Given the description of an element on the screen output the (x, y) to click on. 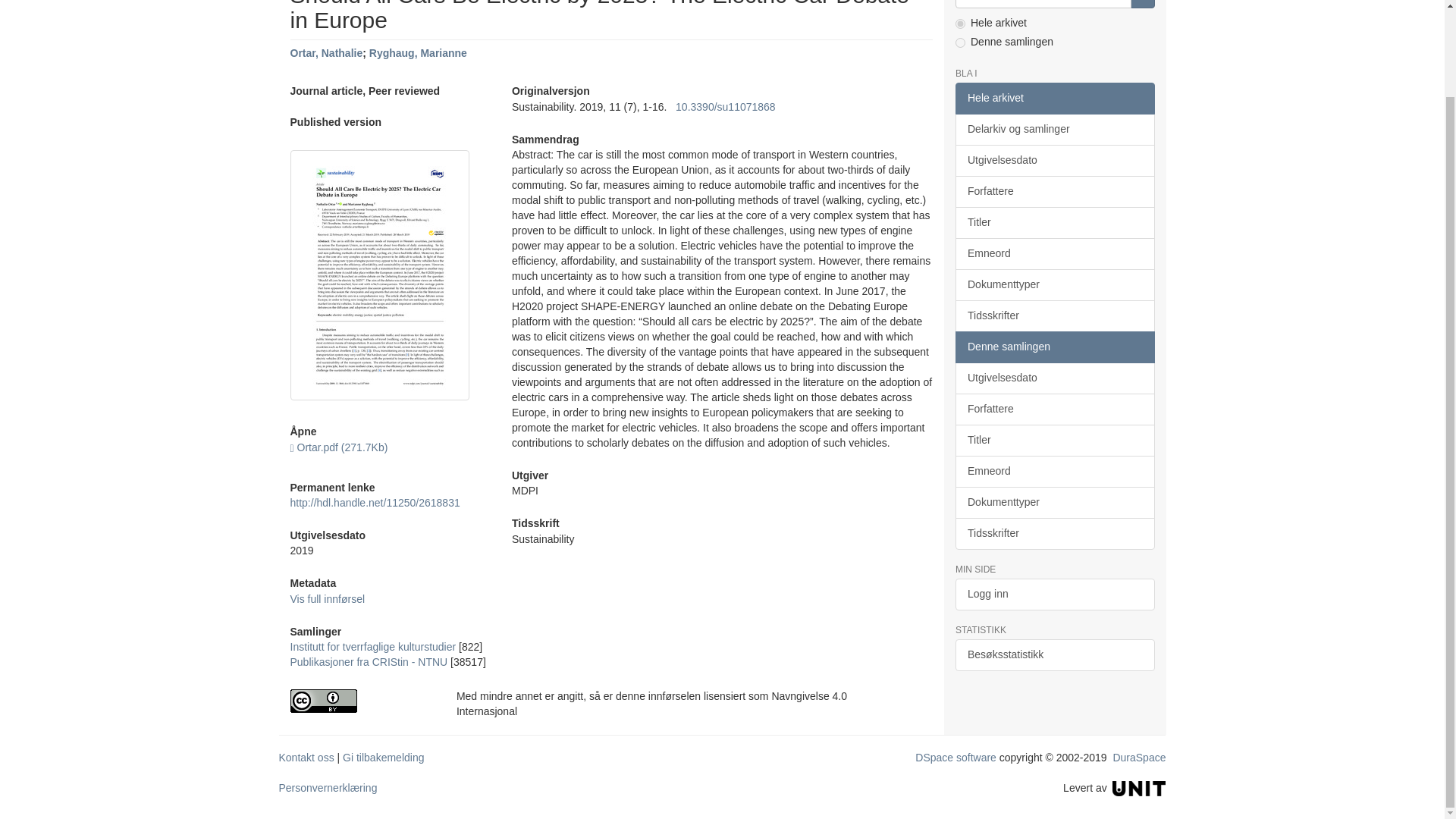
Publikasjoner fra CRIStin - NTNU (367, 662)
Utgivelsesdato (1054, 160)
Institutt for tverrfaglige kulturstudier (372, 646)
Unit (1139, 787)
Ryghaug, Marianne (418, 52)
Forfattere (1054, 192)
Delarkiv og samlinger (1054, 129)
Ortar, Nathalie (325, 52)
Navngivelse 4.0 Internasjonal (360, 700)
Hele arkivet (1054, 98)
